Given the description of an element on the screen output the (x, y) to click on. 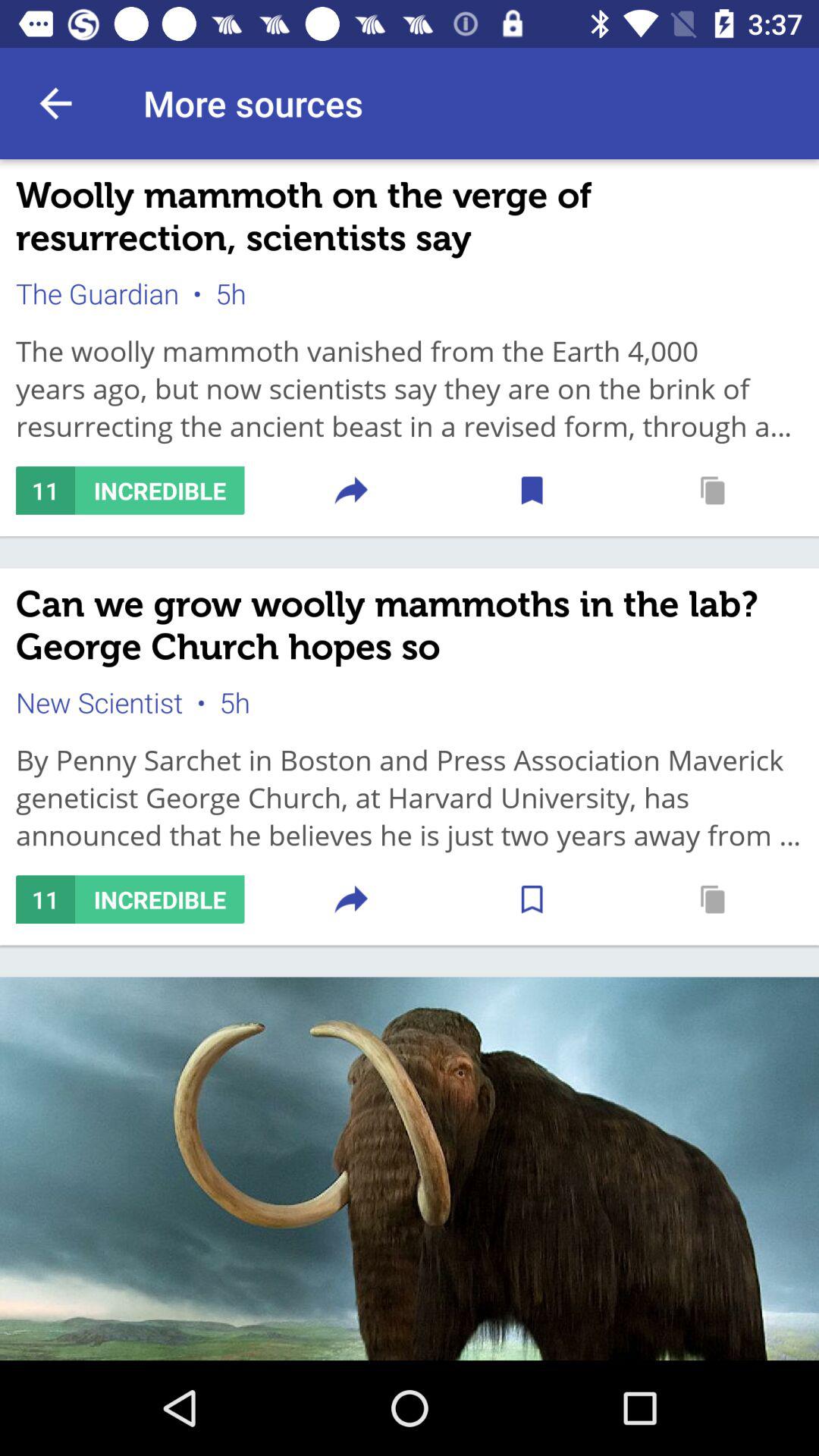
choose the icon next to more sources (55, 103)
